Given the description of an element on the screen output the (x, y) to click on. 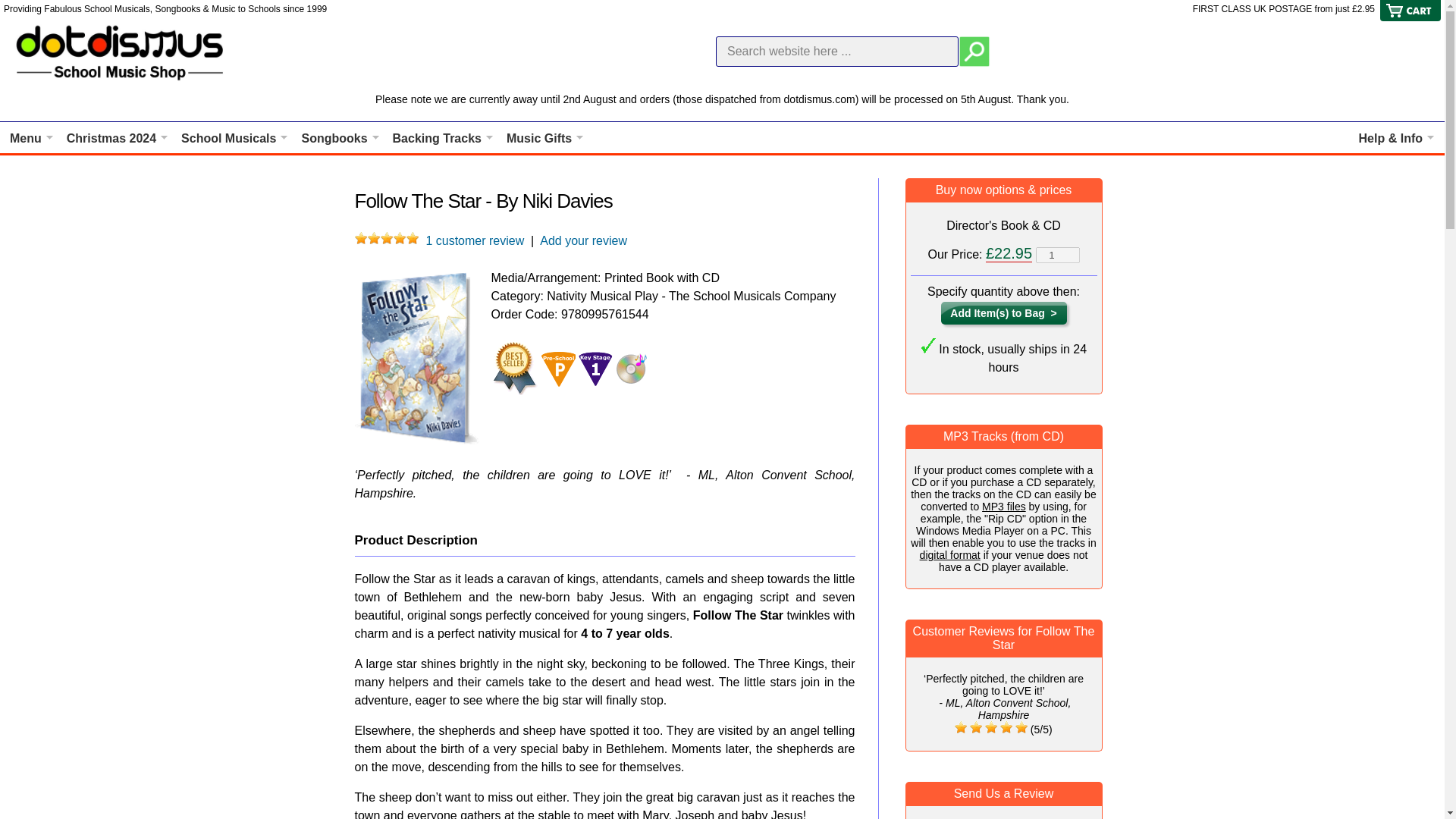
View Cart and Checkout (1410, 18)
Search website here ... (837, 51)
Search website here ... (837, 51)
1 (1057, 254)
School Musicals (234, 138)
Menu (31, 138)
Backing Tracks (442, 138)
Songbooks (340, 138)
Music Gifts (545, 138)
Christmas 2024 (117, 138)
Click logo to return to Home Page (120, 51)
